Given the description of an element on the screen output the (x, y) to click on. 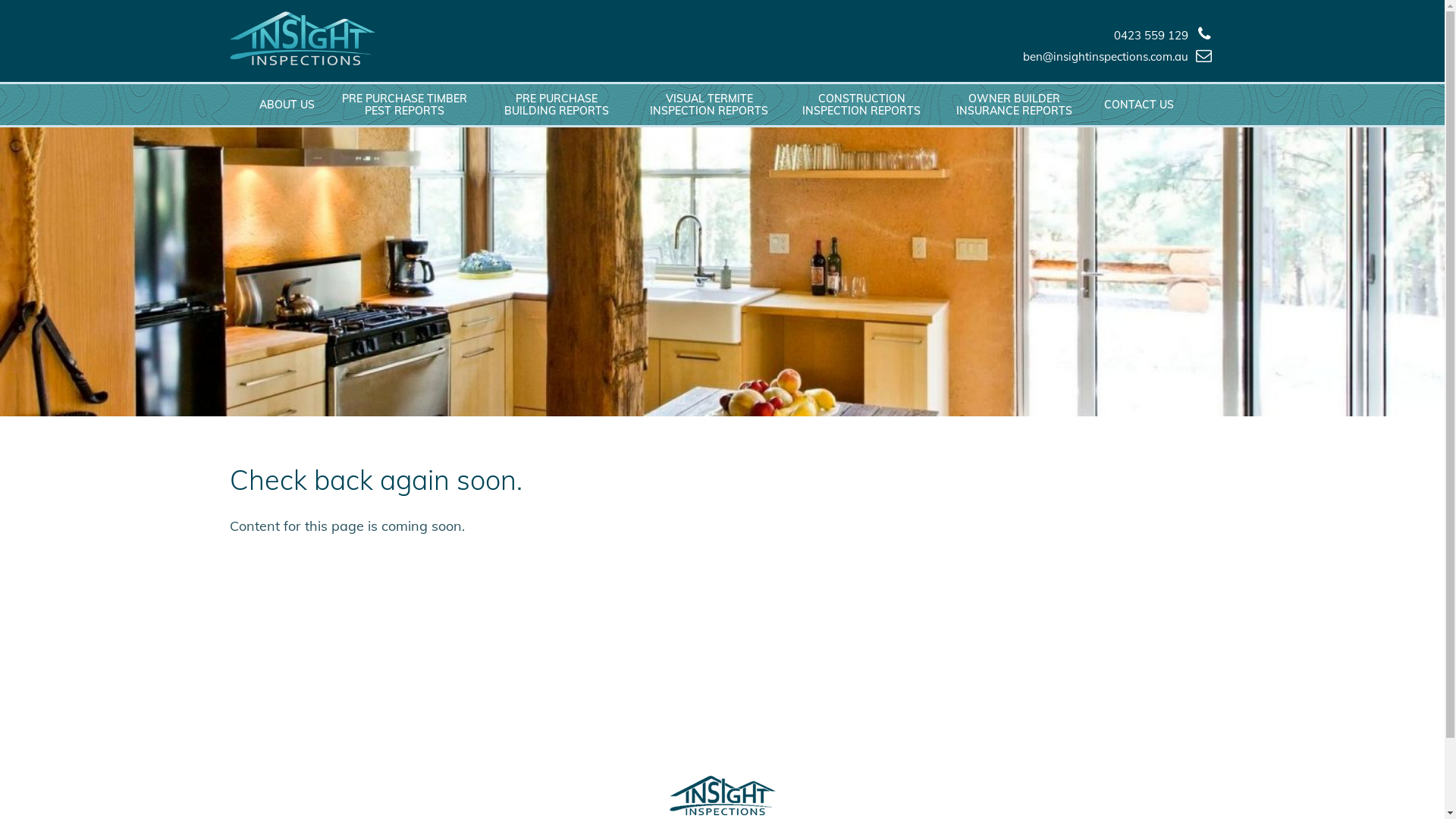
OWNER BUILDER INSURANCE REPORTS Element type: text (1013, 104)
CONTACT US Element type: text (1138, 104)
VISUAL TERMITE INSPECTION REPORTS Element type: text (708, 104)
Insight Inspections Element type: hover (301, 38)
PRE PURCHASE BUILDING REPORTS Element type: text (556, 104)
ben@insightinspections.com.au Element type: text (1105, 56)
CONSTRUCTION INSPECTION REPORTS Element type: text (861, 104)
PRE PURCHASE TIMBER PEST REPORTS Element type: text (403, 104)
ABOUT US Element type: text (286, 104)
